Given the description of an element on the screen output the (x, y) to click on. 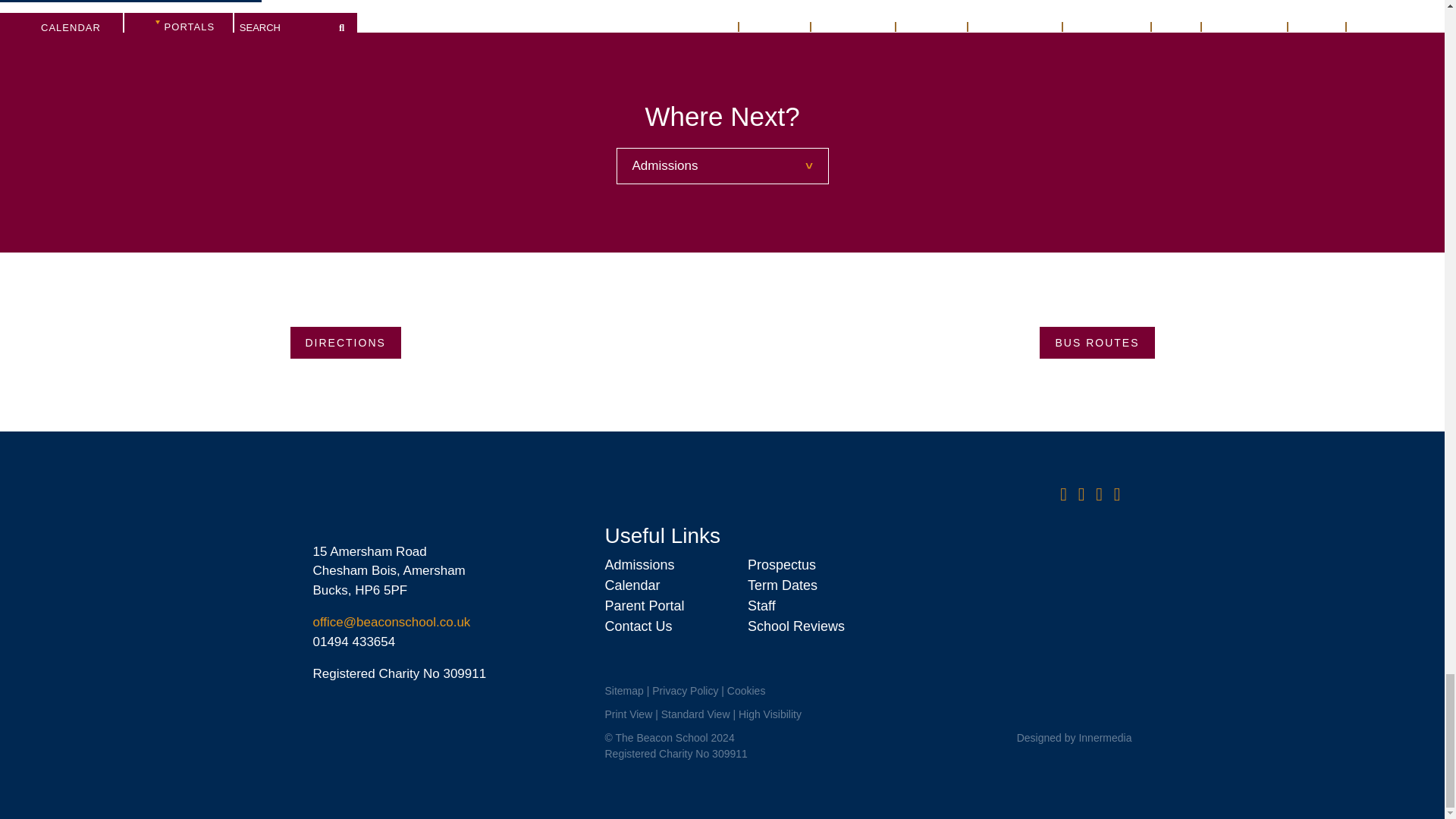
Switch to Standard Visibility (695, 714)
Switch to Print (628, 714)
Switch to High Visibility (770, 714)
